Given the description of an element on the screen output the (x, y) to click on. 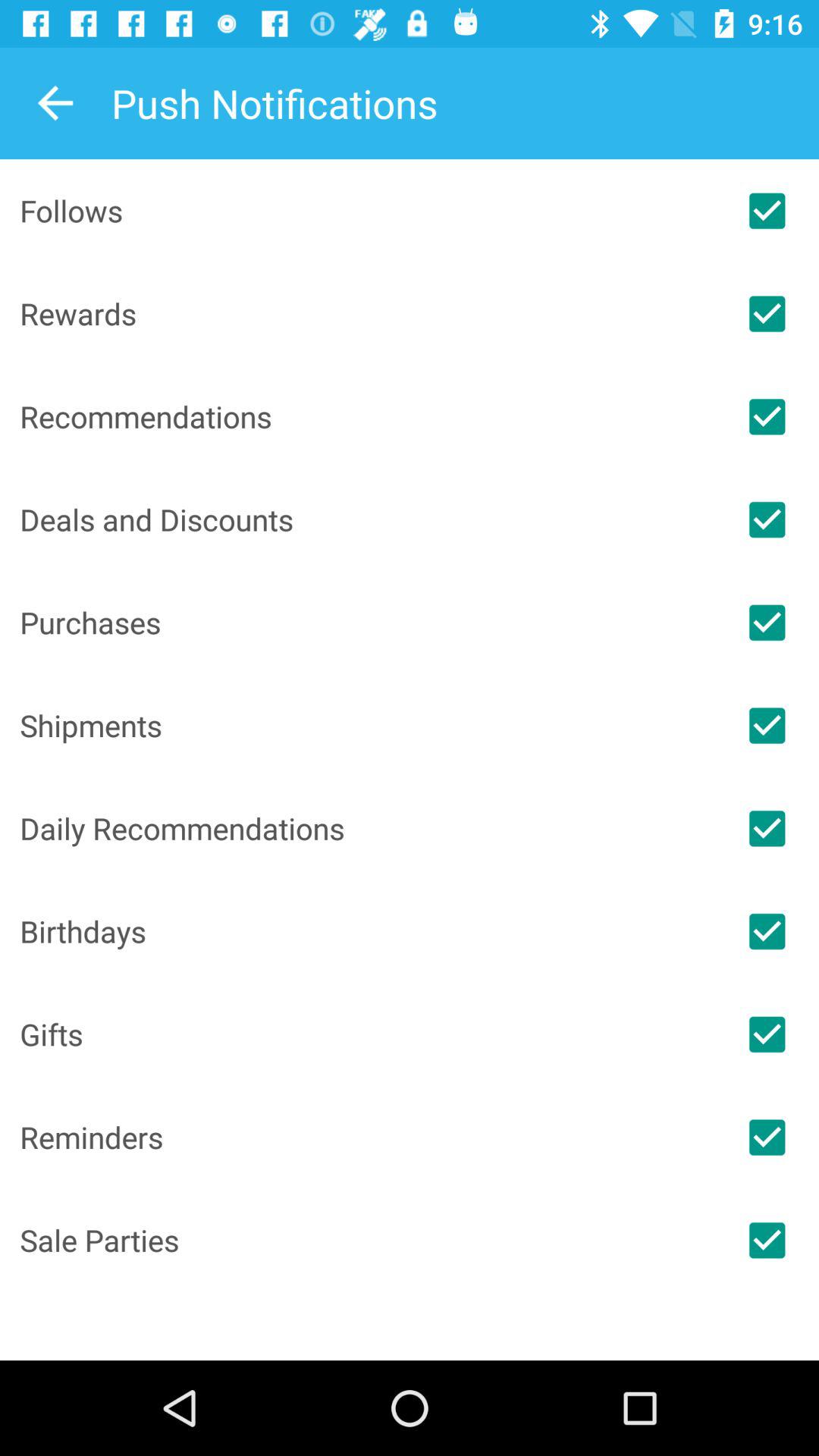
choose item above follows icon (55, 103)
